Given the description of an element on the screen output the (x, y) to click on. 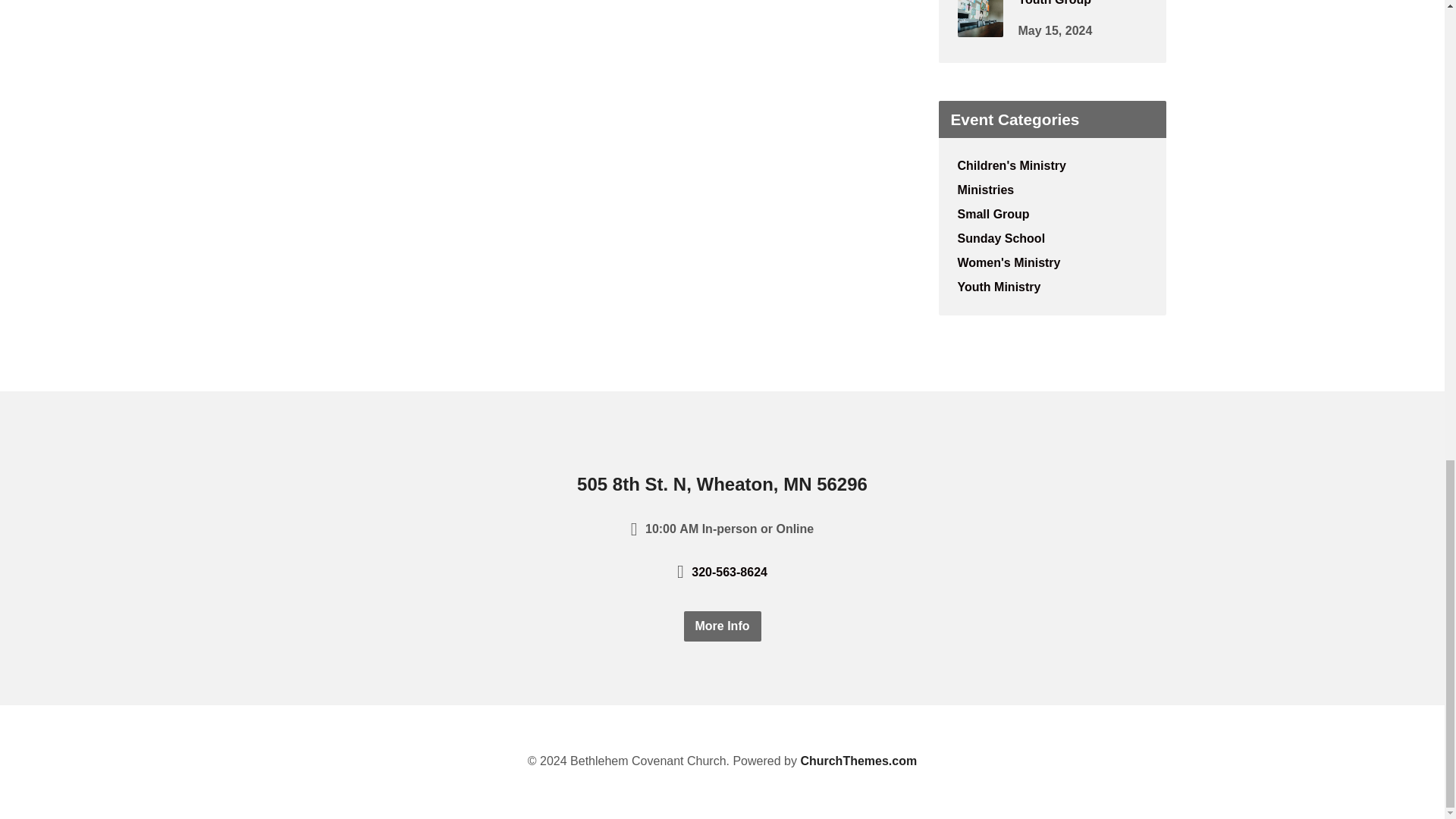
Youth Group (1053, 2)
Youth Group (979, 26)
